Given the description of an element on the screen output the (x, y) to click on. 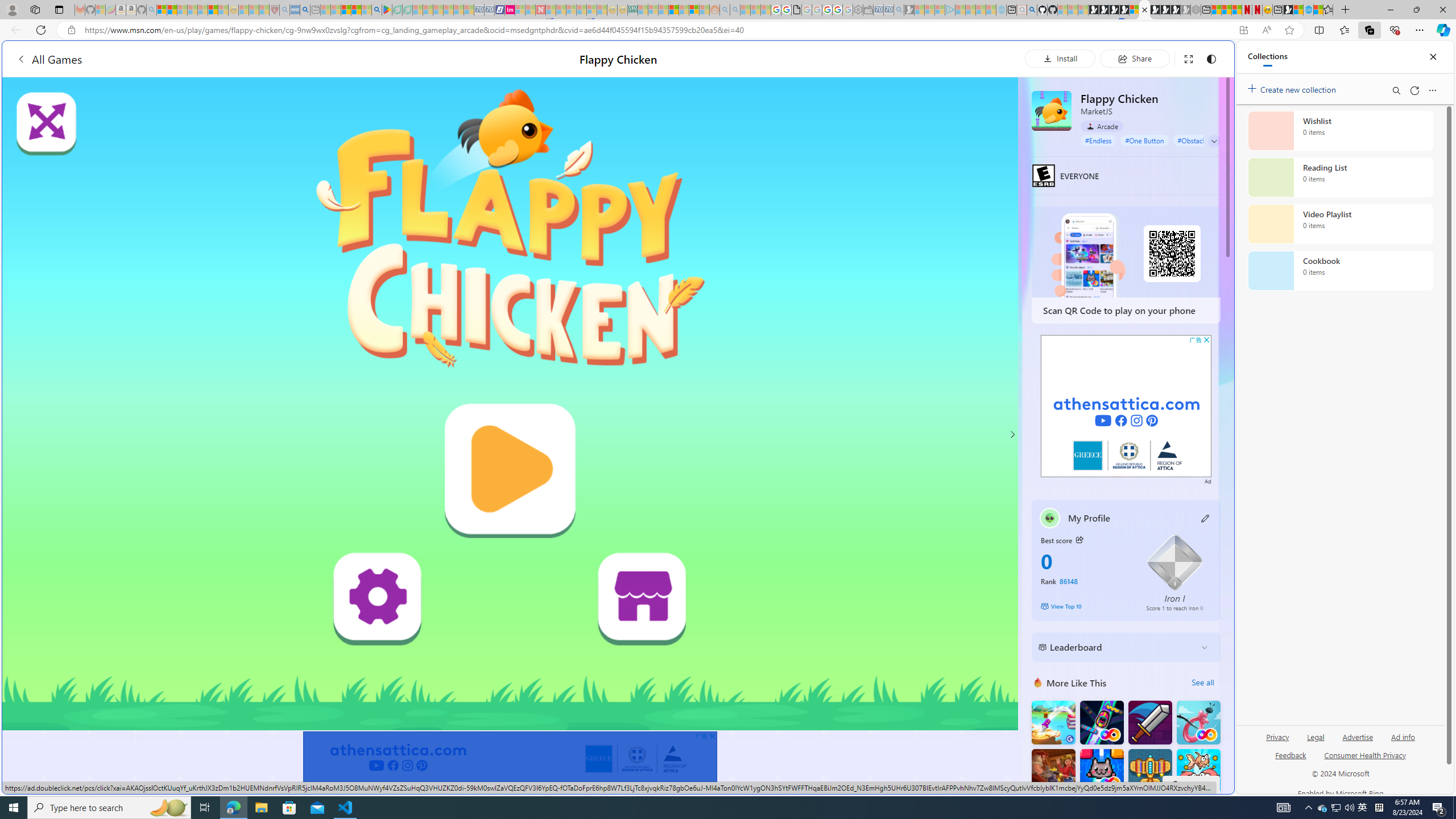
Fish Merge FRVR (1198, 770)
Sign in to your account (1134, 9)
Atlantic Sky Hunter (1149, 770)
Search or enter web address (922, 108)
#Obstacle Course (1203, 140)
Balloon FRVR (1198, 722)
